Given the description of an element on the screen output the (x, y) to click on. 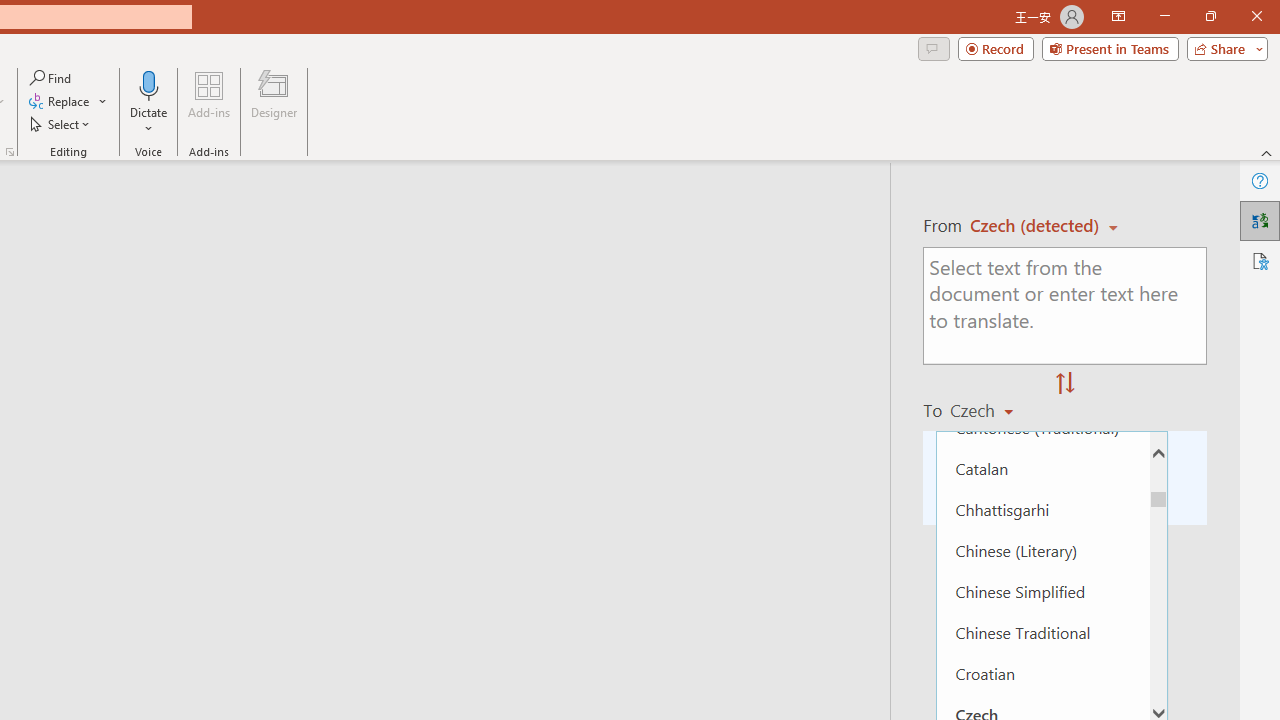
Cantonese (Traditional) (1042, 426)
Chinese Simplified (1042, 591)
Bosnian (1042, 344)
Catalan (1042, 467)
